Given the description of an element on the screen output the (x, y) to click on. 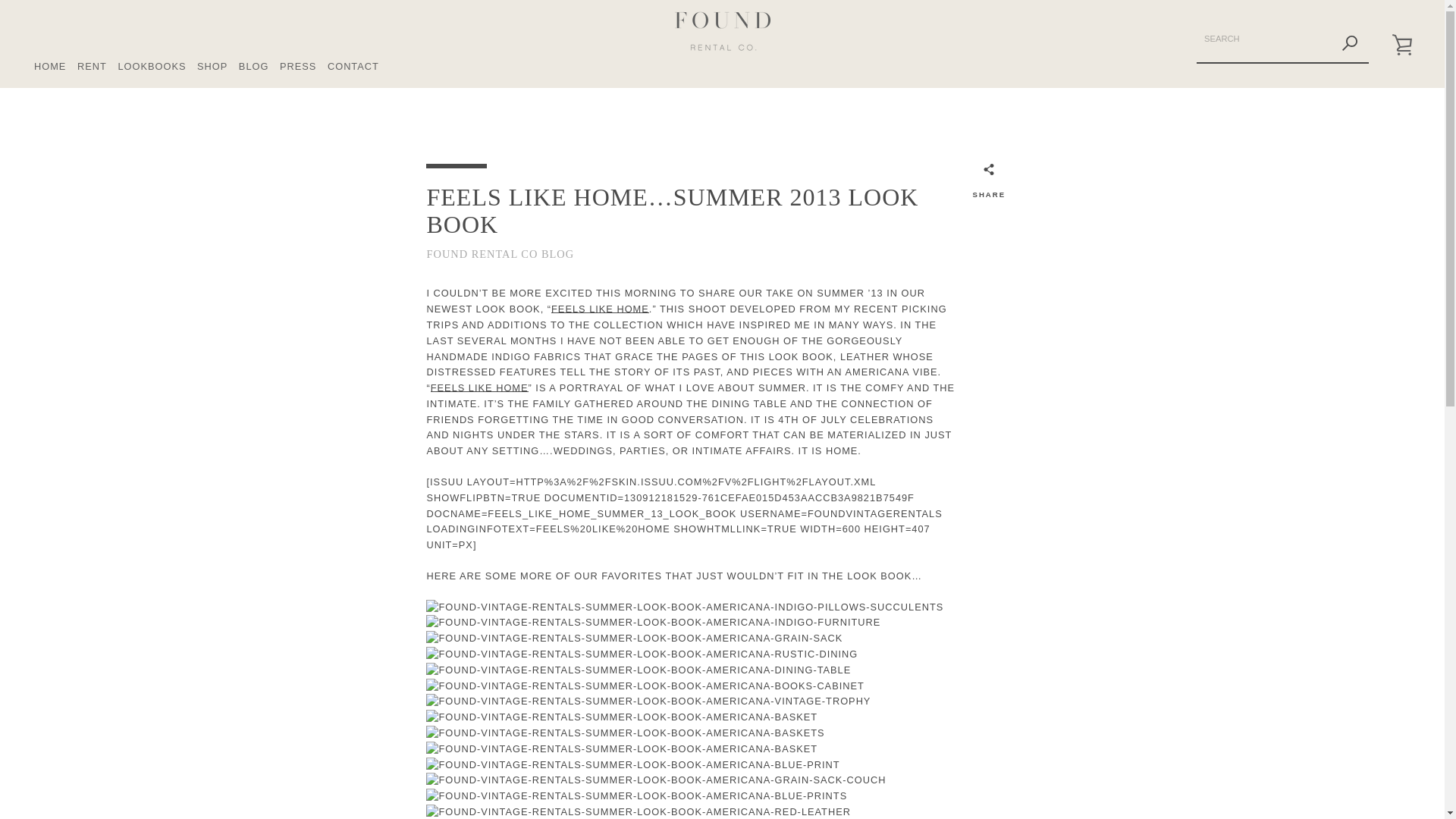
FOUND RENTAL CO on Pinterest (399, 779)
FOUND RENTAL CO on Instagram (426, 779)
FOUND RENTAL CO on Facebook (372, 779)
